Given the description of an element on the screen output the (x, y) to click on. 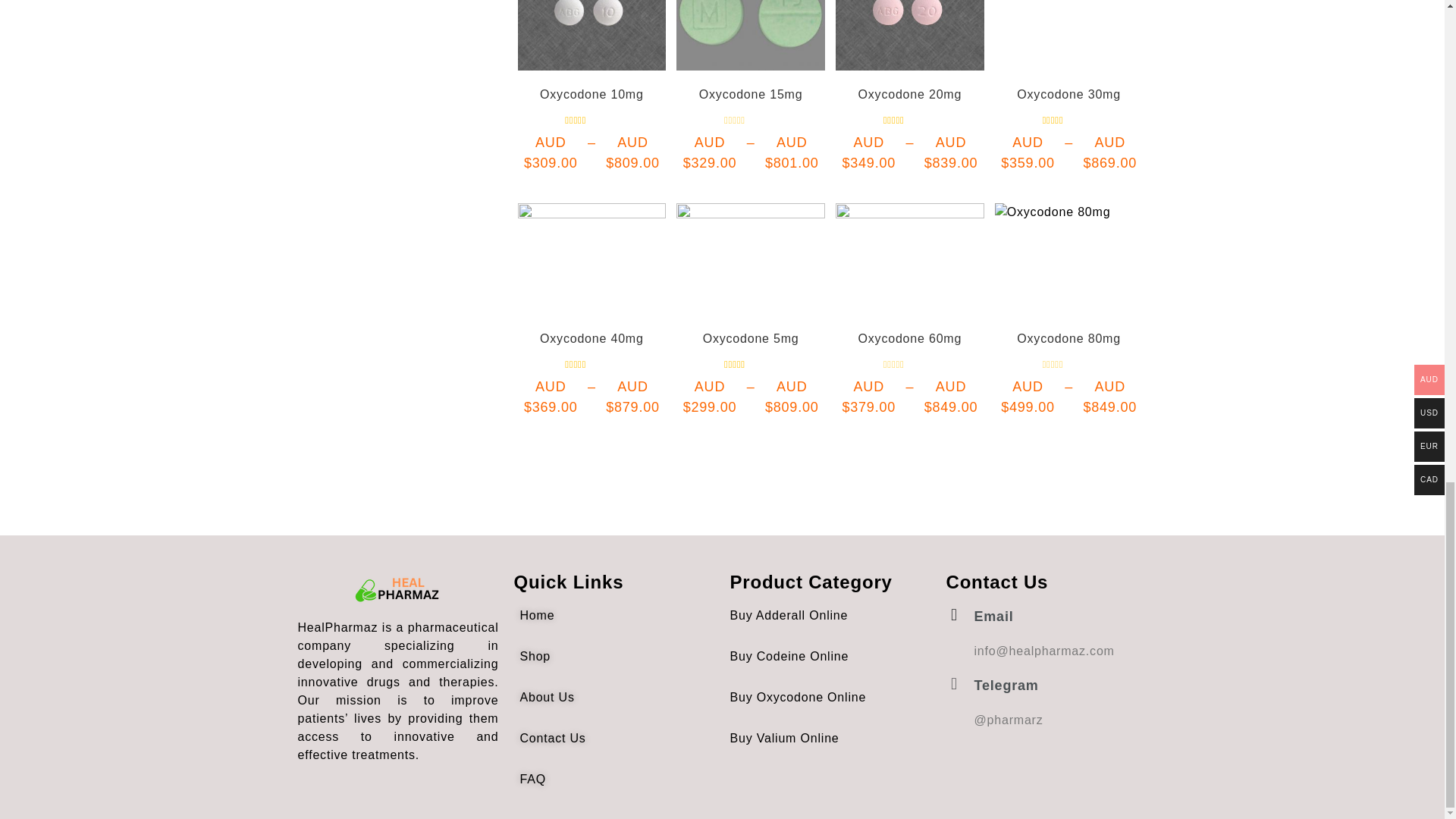
Oxycodone 15mg (750, 93)
Oxycodone 15mg (751, 35)
Oxycodone 10mg (591, 93)
Oxycodone 10mg (590, 35)
